Given the description of an element on the screen output the (x, y) to click on. 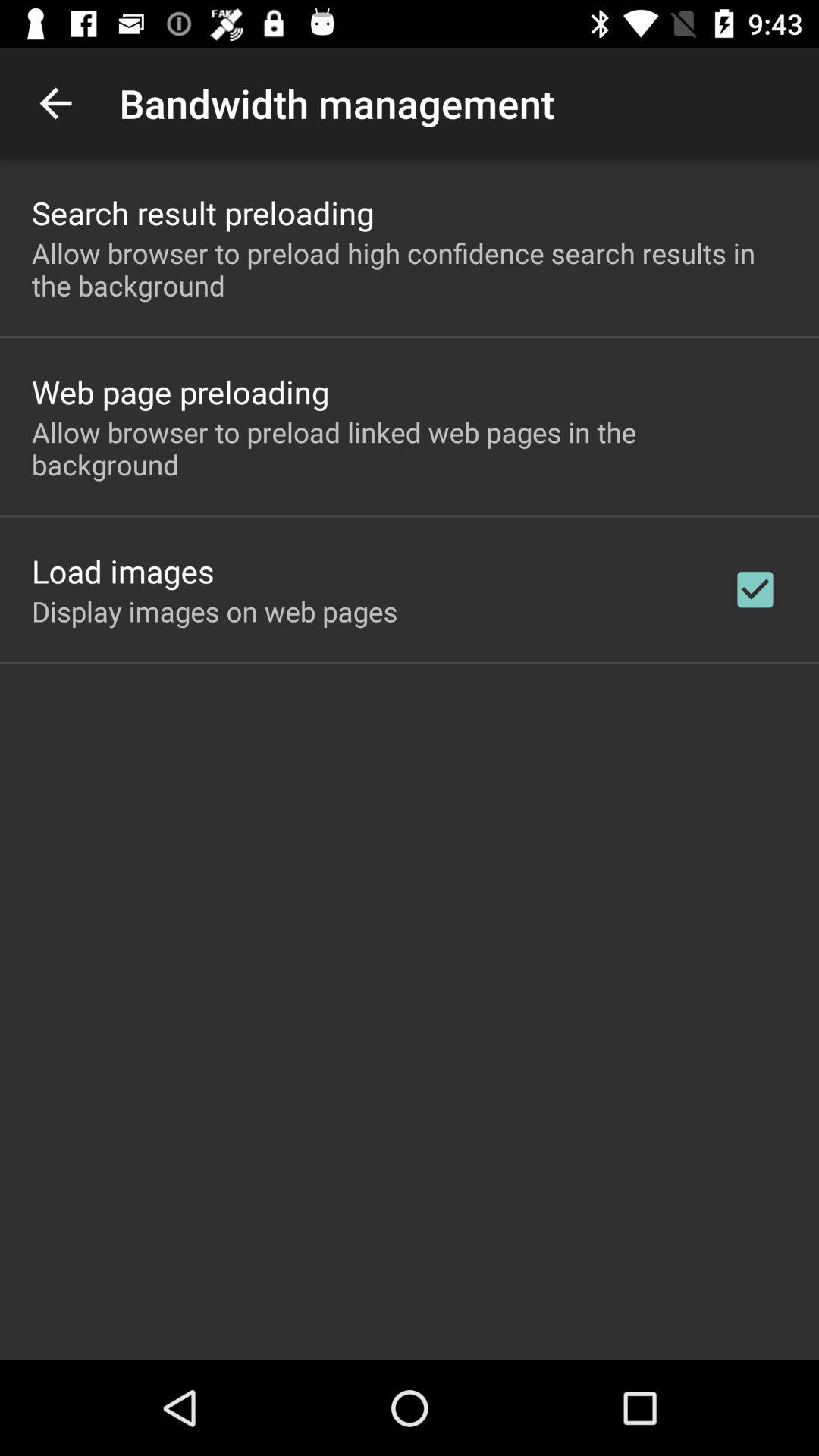
flip to load images app (122, 570)
